Given the description of an element on the screen output the (x, y) to click on. 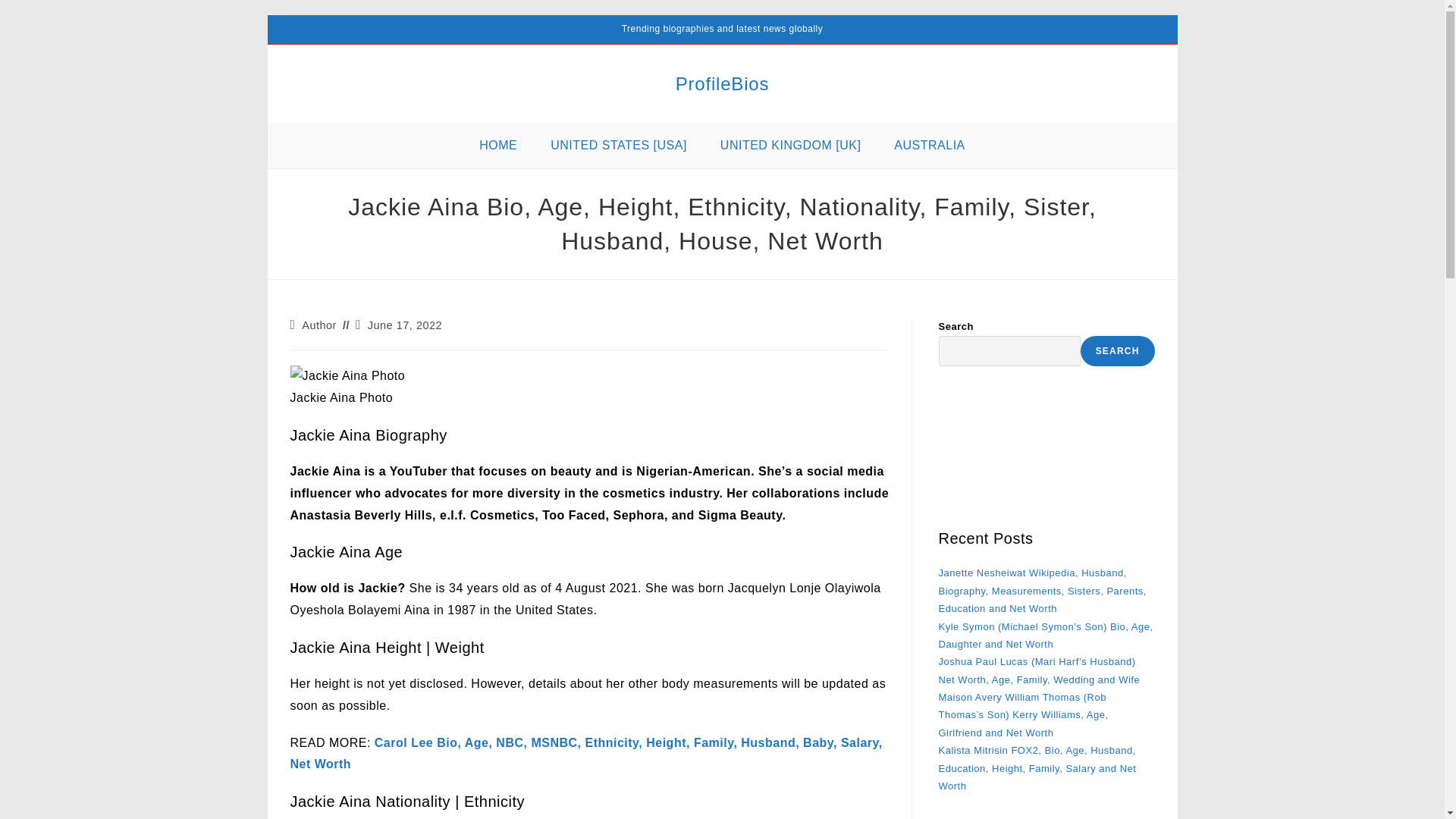
Posts by Author (318, 325)
Author (318, 325)
SEARCH (1117, 350)
AUSTRALIA (929, 145)
HOME (498, 145)
ProfileBios (722, 83)
